Given the description of an element on the screen output the (x, y) to click on. 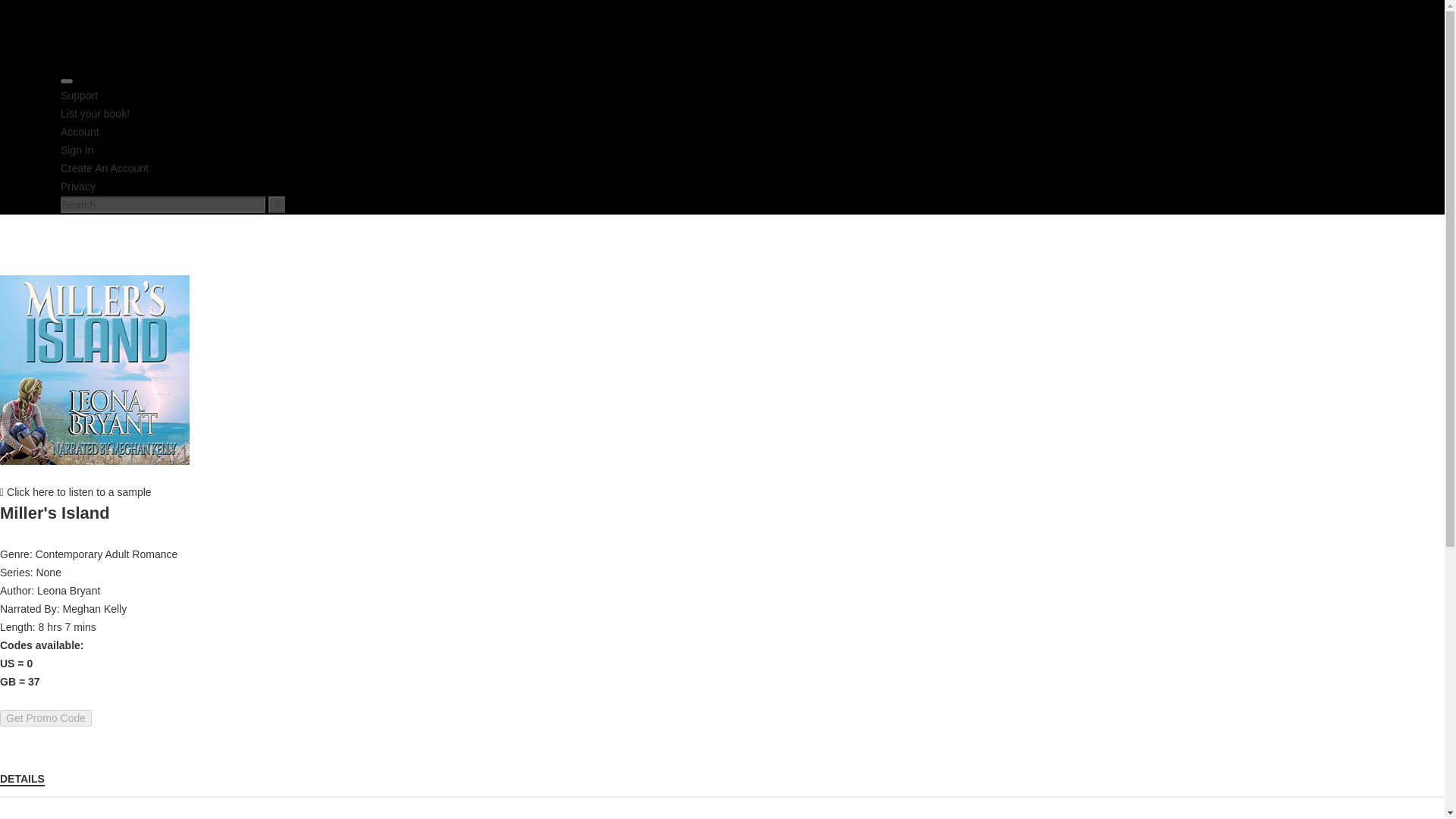
DETAILS (22, 778)
Leona Bryant (68, 590)
Meghan Kelly (94, 608)
Account (80, 132)
List your book! (95, 113)
Privacy (78, 186)
Sign In (77, 150)
Contemporary Adult Romance (105, 553)
Get Promo Code (45, 718)
Click here to listen to a sample (75, 491)
None (47, 572)
Create An Account (104, 168)
Support (79, 95)
